Given the description of an element on the screen output the (x, y) to click on. 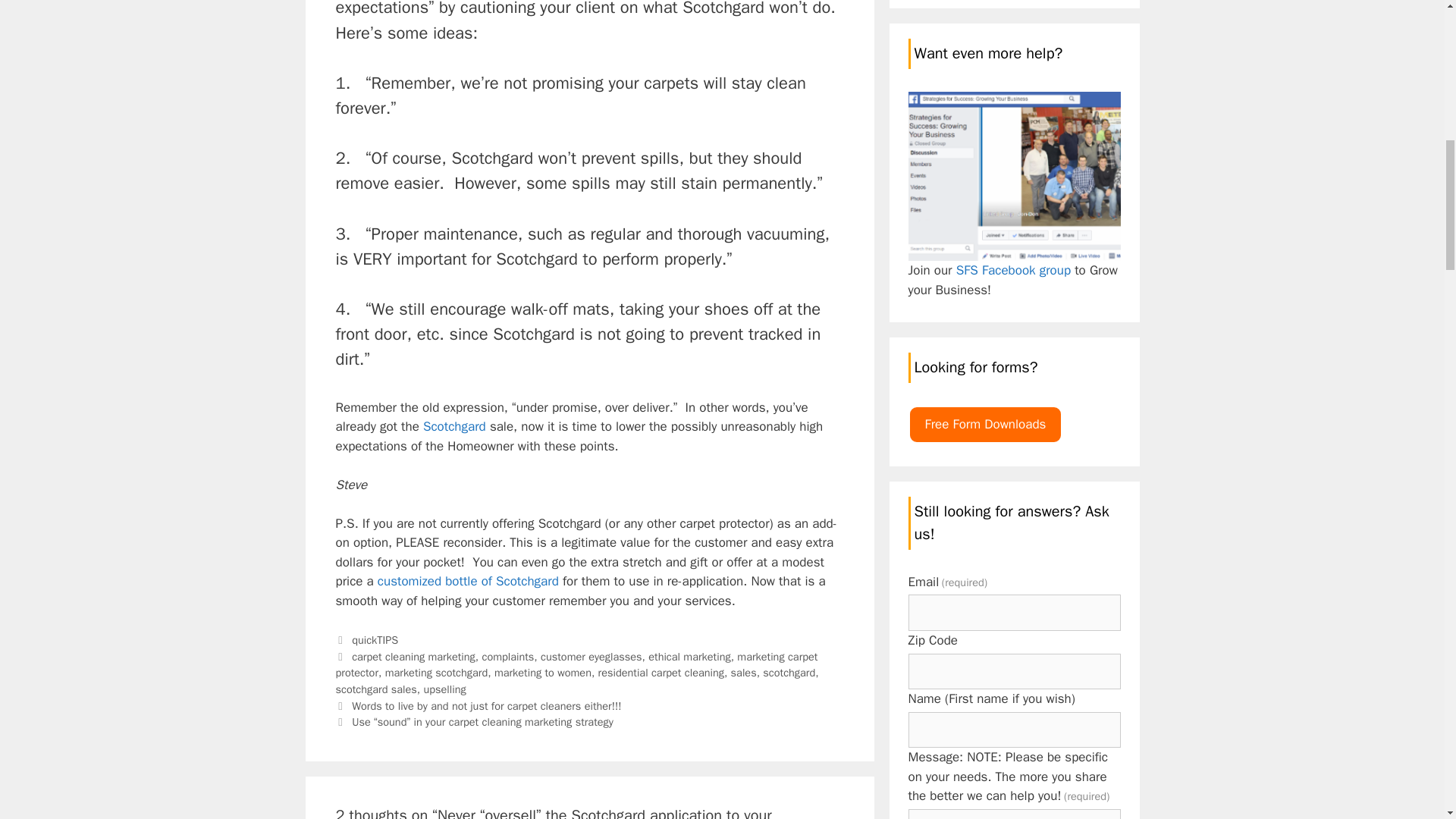
Scroll back to top (1406, 720)
